Given the description of an element on the screen output the (x, y) to click on. 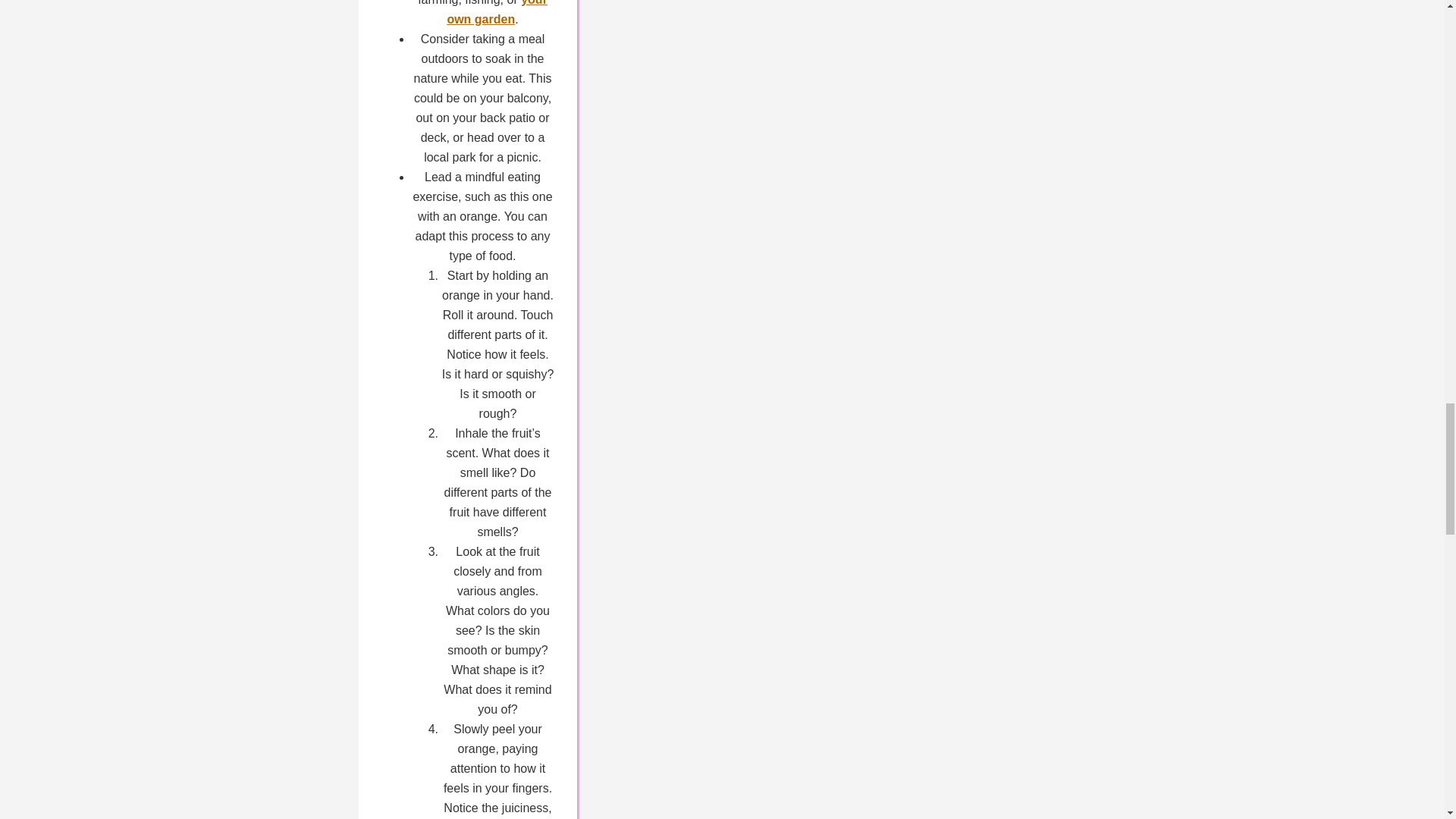
your own garden (496, 12)
